Given the description of an element on the screen output the (x, y) to click on. 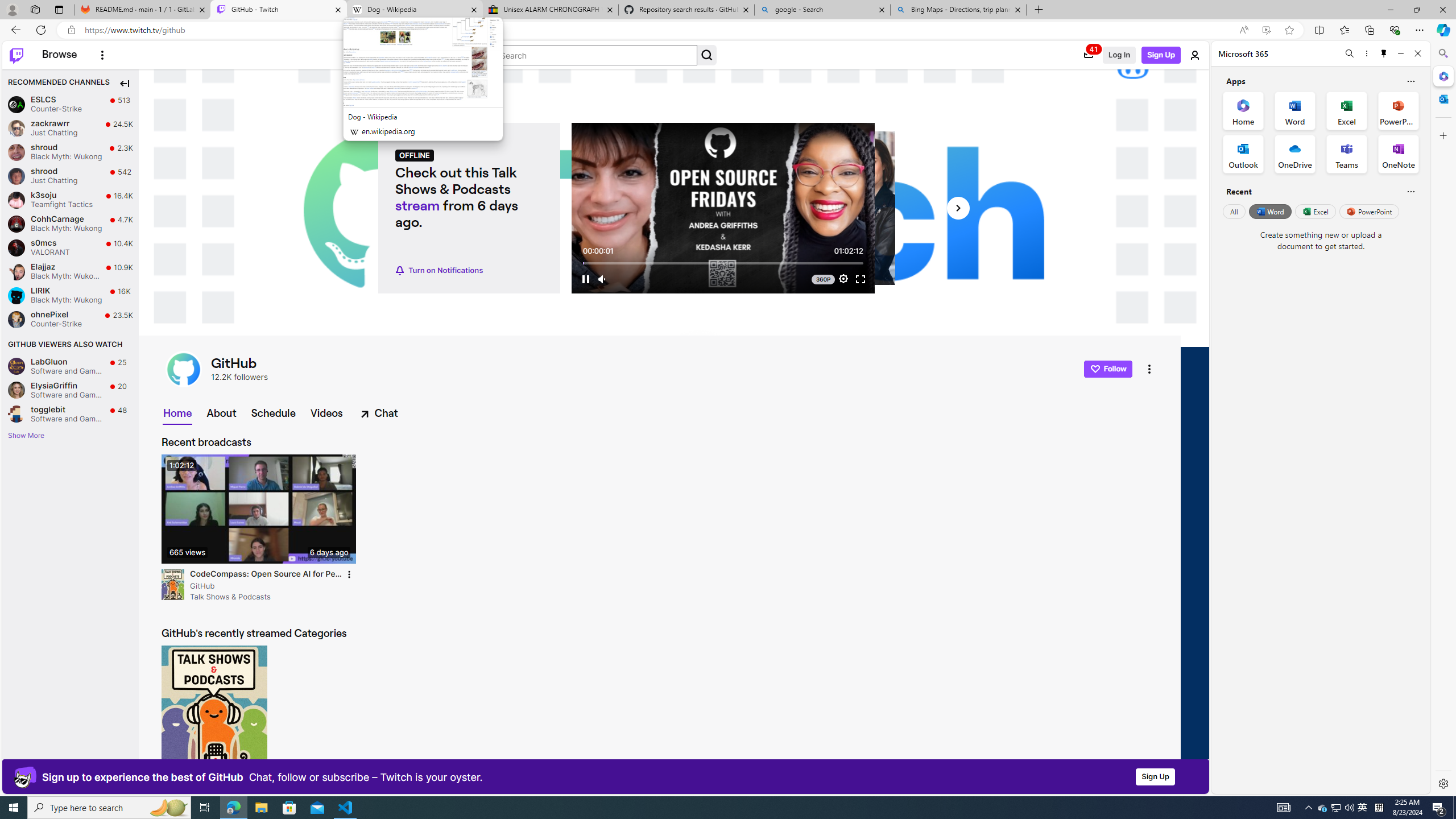
Talk Shows & Podcasts (172, 584)
Teams Office App (1346, 154)
Mute (m) (602, 278)
Class: ScSvg-sc-1hrsqw6-1 ihOSMR (1094, 368)
Talk Shows & Podcasts (172, 584)
